Given the description of an element on the screen output the (x, y) to click on. 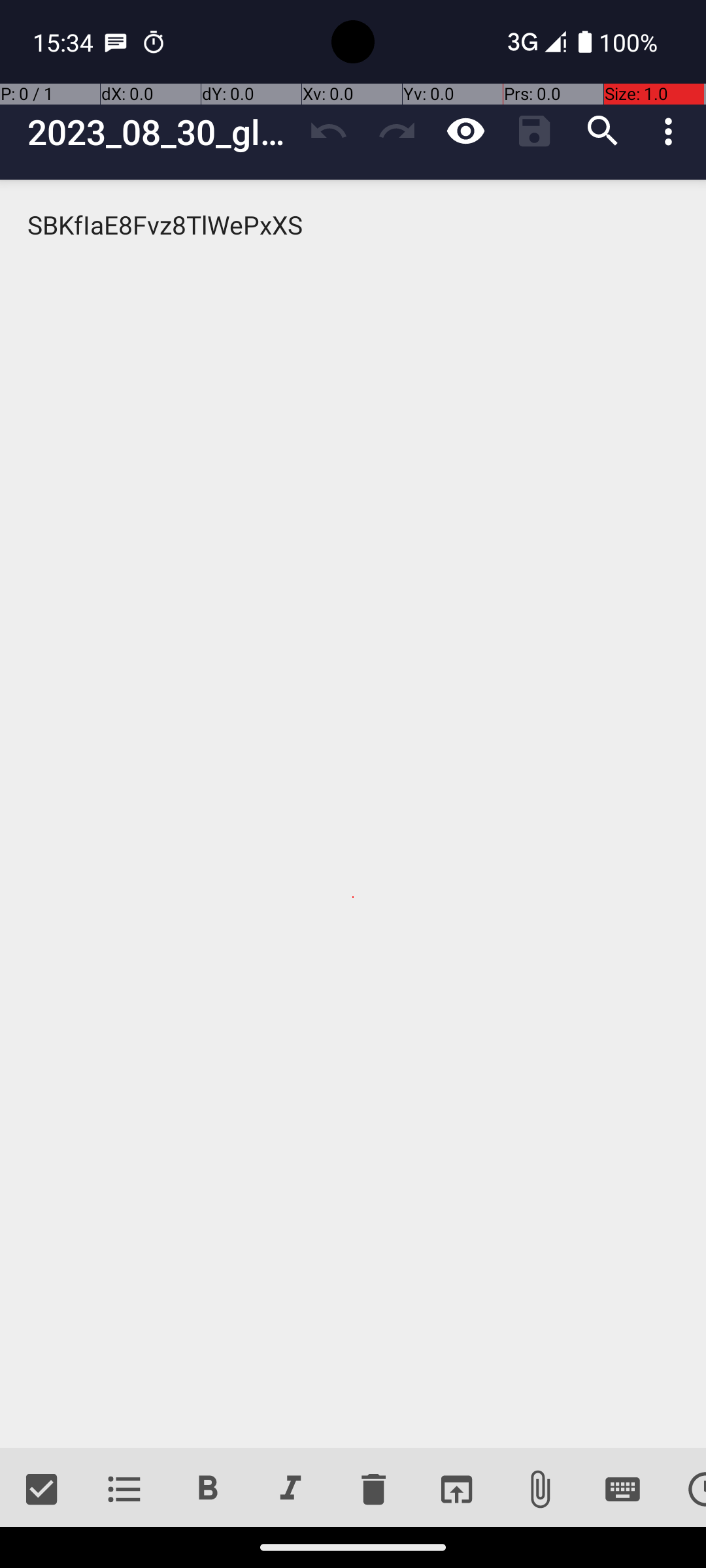
2023_08_30_glad_koala Element type: android.widget.TextView (160, 131)
SBKfIaE8Fvz8TlWePxXS
 Element type: android.widget.EditText (353, 813)
